Given the description of an element on the screen output the (x, y) to click on. 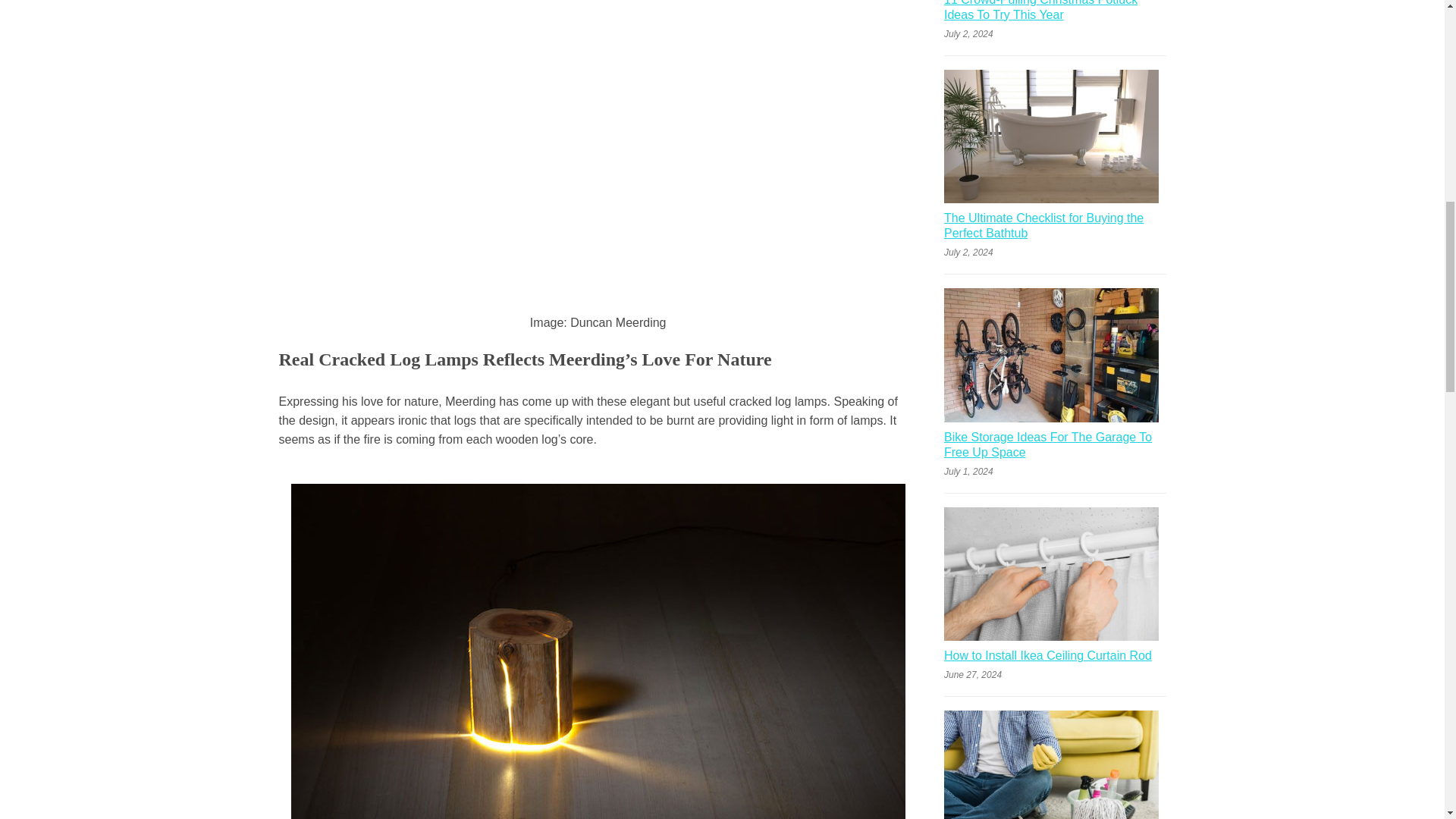
How to Install Ikea Ceiling Curtain Rod (1047, 657)
Bike Storage Ideas For The Garage To Free Up Space (1054, 446)
11 Crowd-Pulling Christmas Potluck Ideas To Try This Year (1054, 13)
The Ultimate Checklist for Buying the Perfect Bathtub (1054, 227)
